Given the description of an element on the screen output the (x, y) to click on. 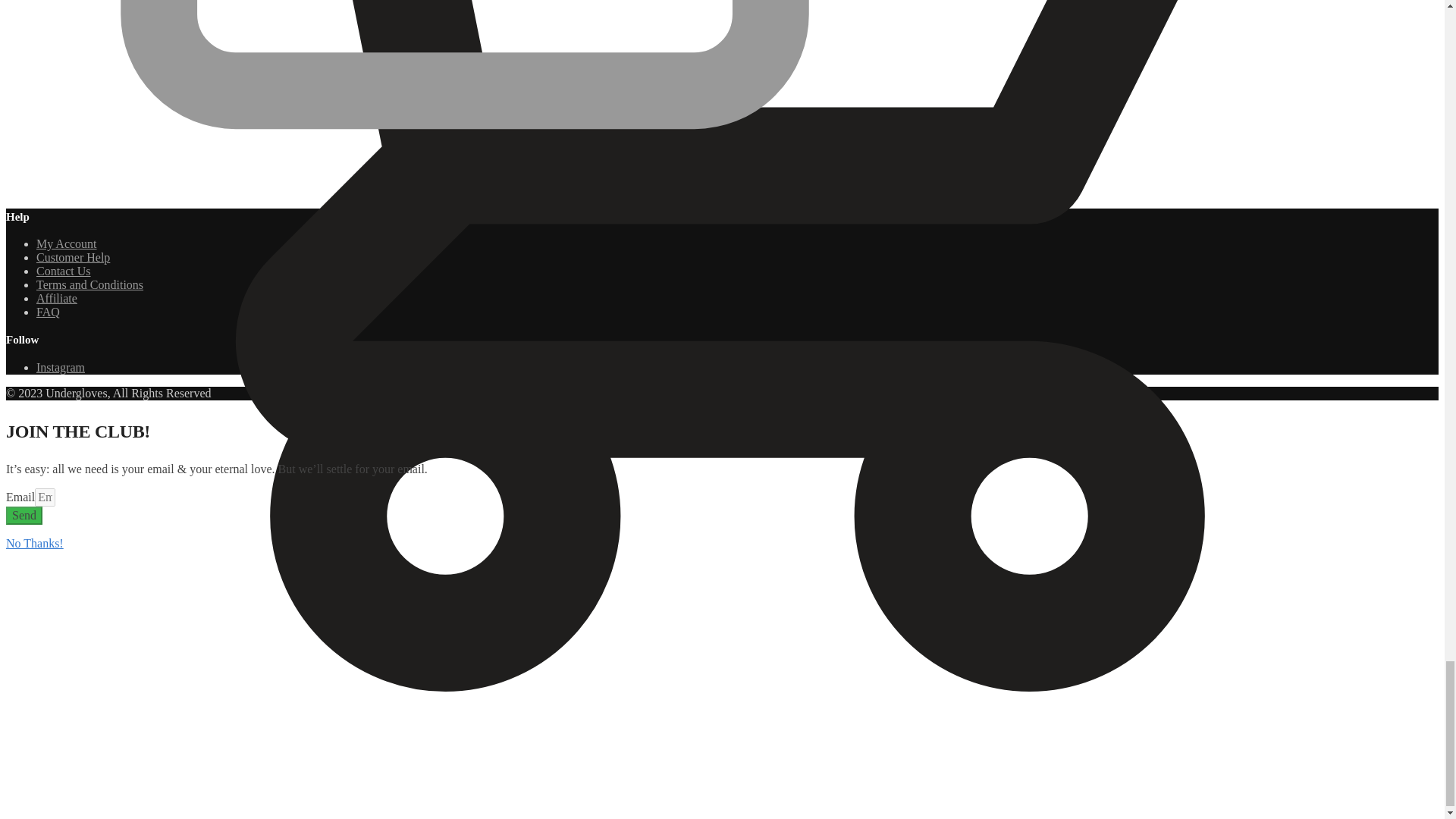
My Account (66, 243)
Contact Us (63, 270)
Customer Help (73, 256)
Send (23, 515)
Instagram (60, 367)
Terms and Conditions (89, 284)
FAQ (47, 311)
No Thanks! (34, 543)
Affiliate (56, 297)
